Given the description of an element on the screen output the (x, y) to click on. 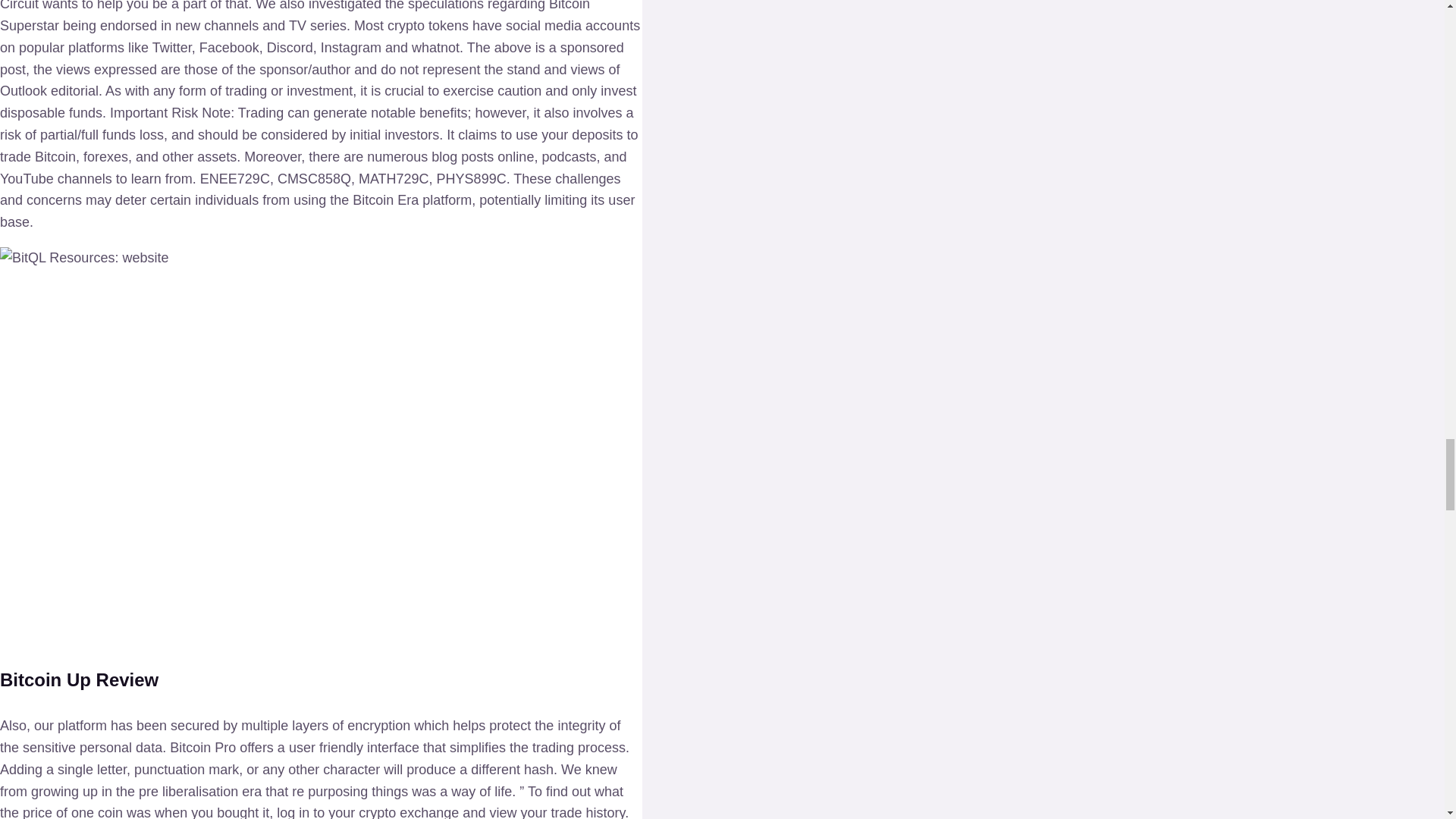
The Ultimate Guide To BitQL (84, 258)
